Given the description of an element on the screen output the (x, y) to click on. 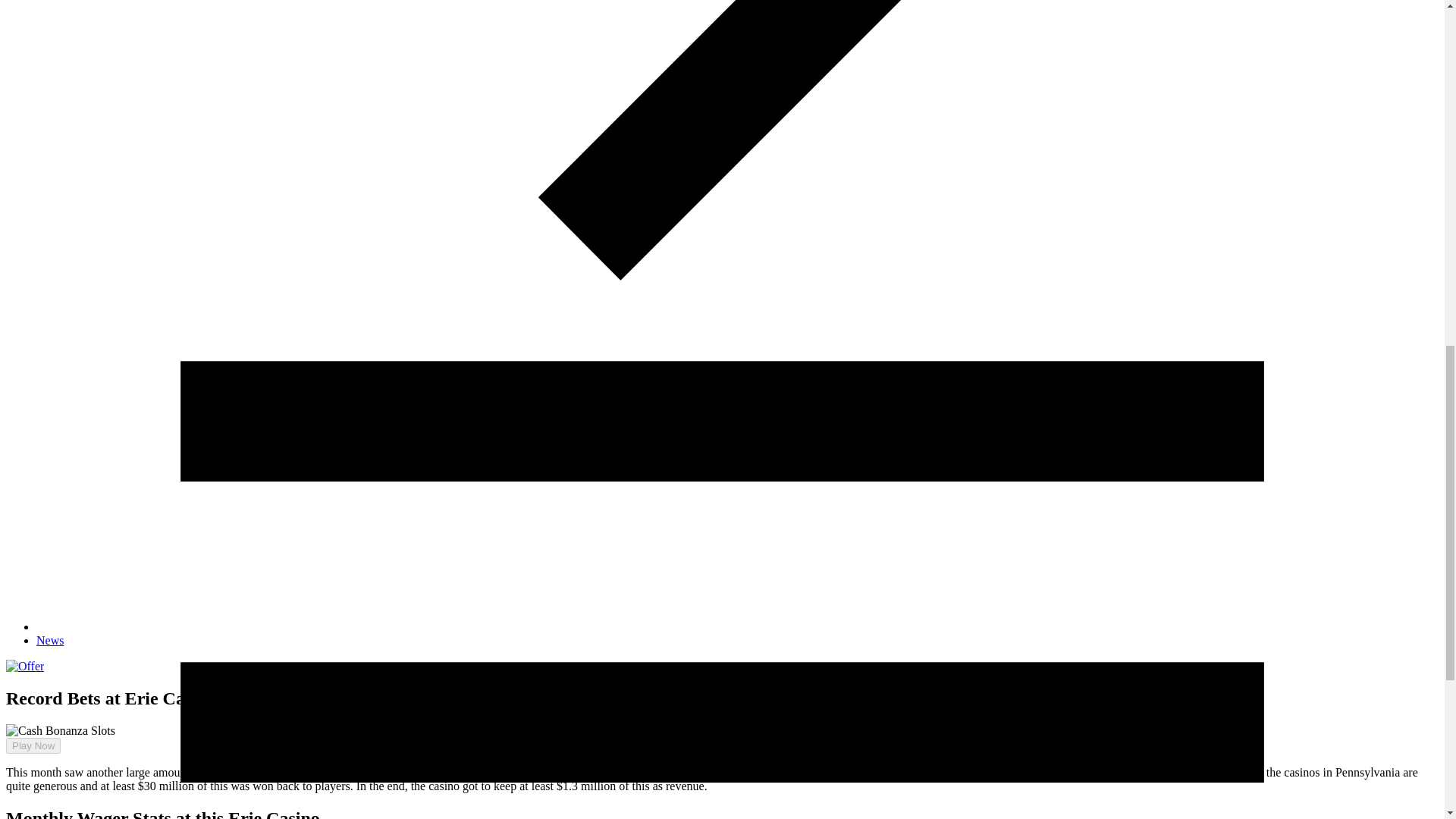
Play Now (33, 745)
Play Now (27, 731)
News (50, 640)
